Given the description of an element on the screen output the (x, y) to click on. 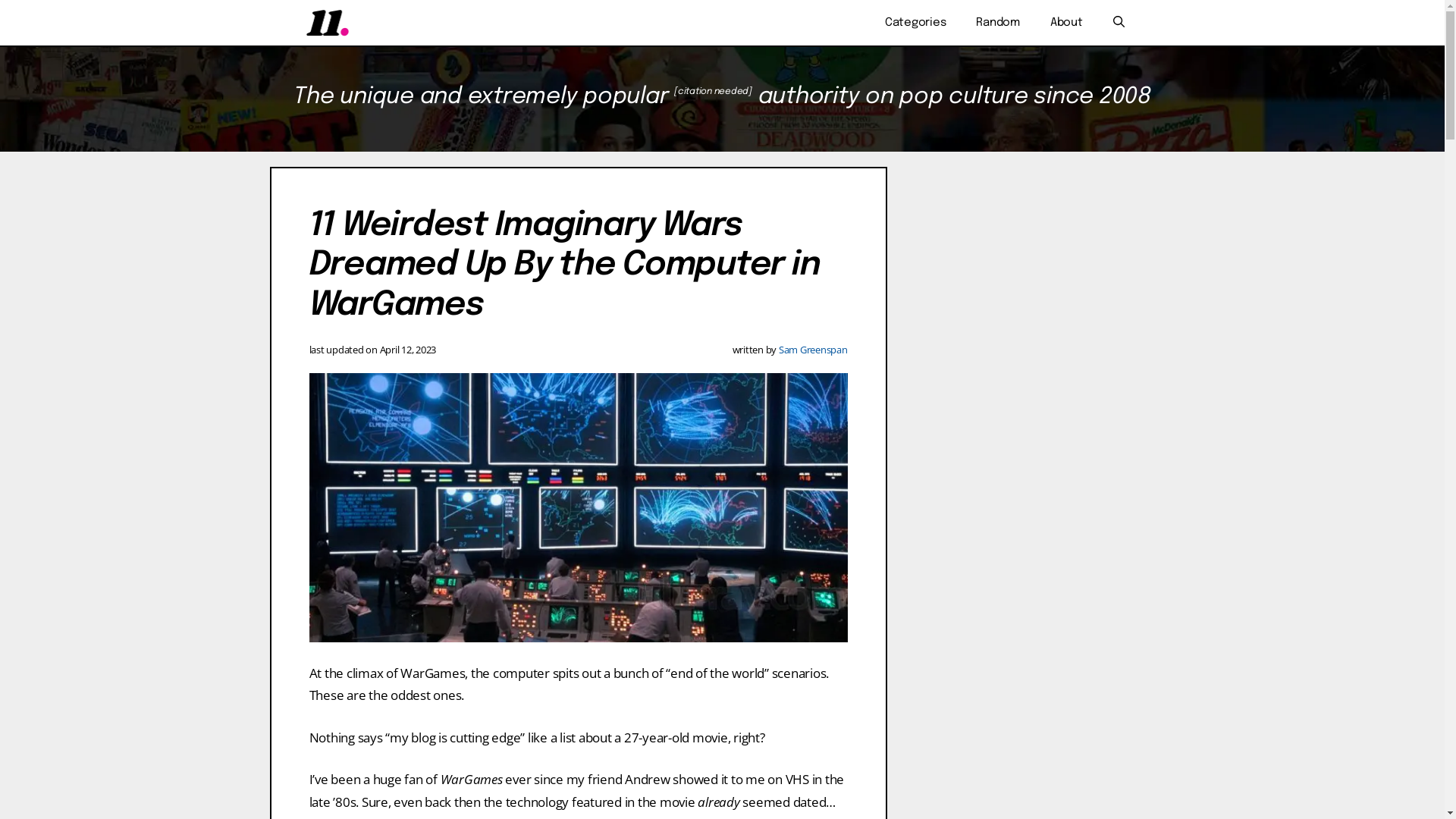
Sam Greenspan Element type: text (812, 349)
About Element type: text (1066, 22)
11 Points Element type: hover (326, 22)
Random Element type: text (997, 22)
Categories Element type: text (915, 22)
